Given the description of an element on the screen output the (x, y) to click on. 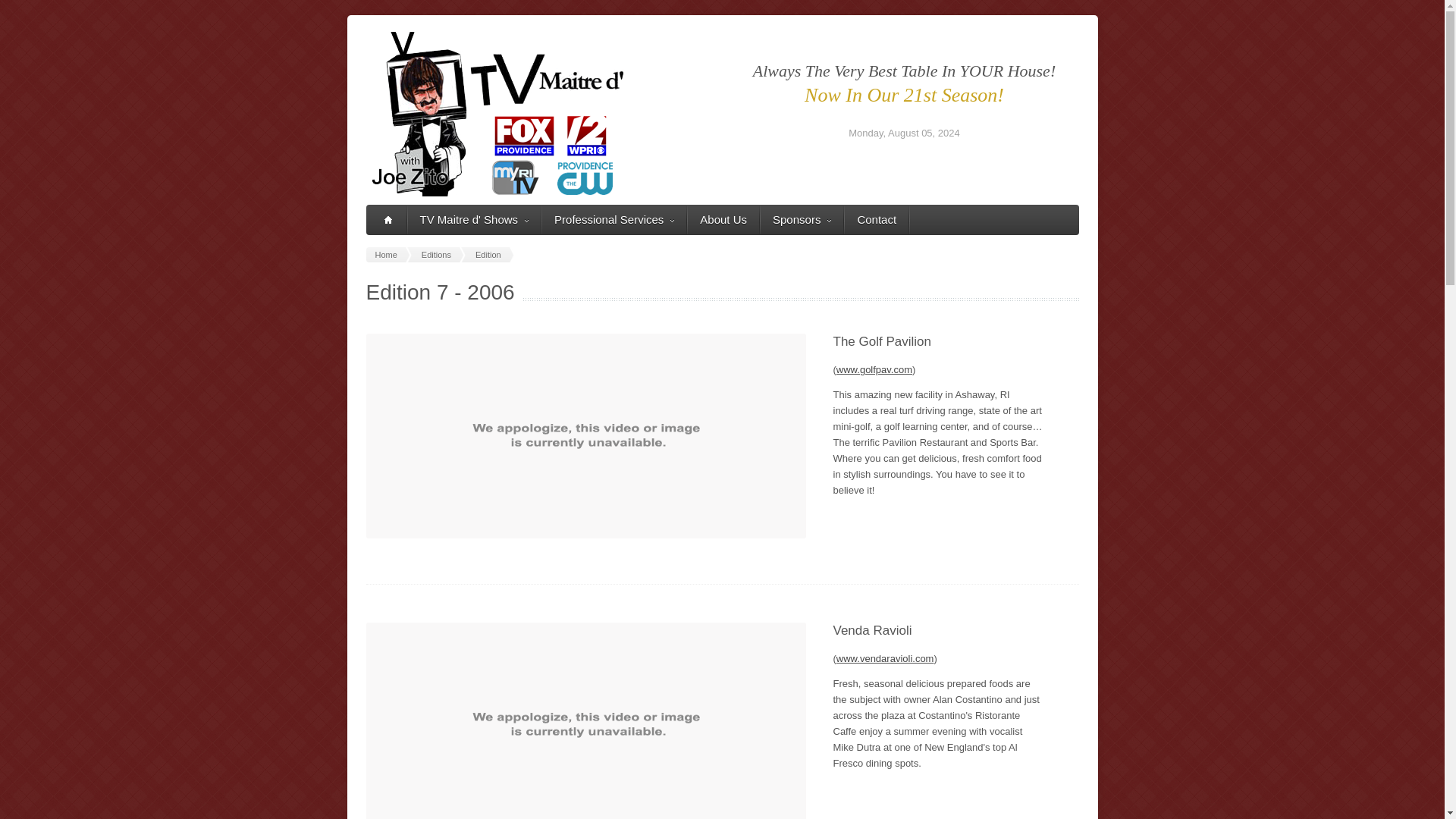
TV Maitre d' Shows (474, 219)
